Given the description of an element on the screen output the (x, y) to click on. 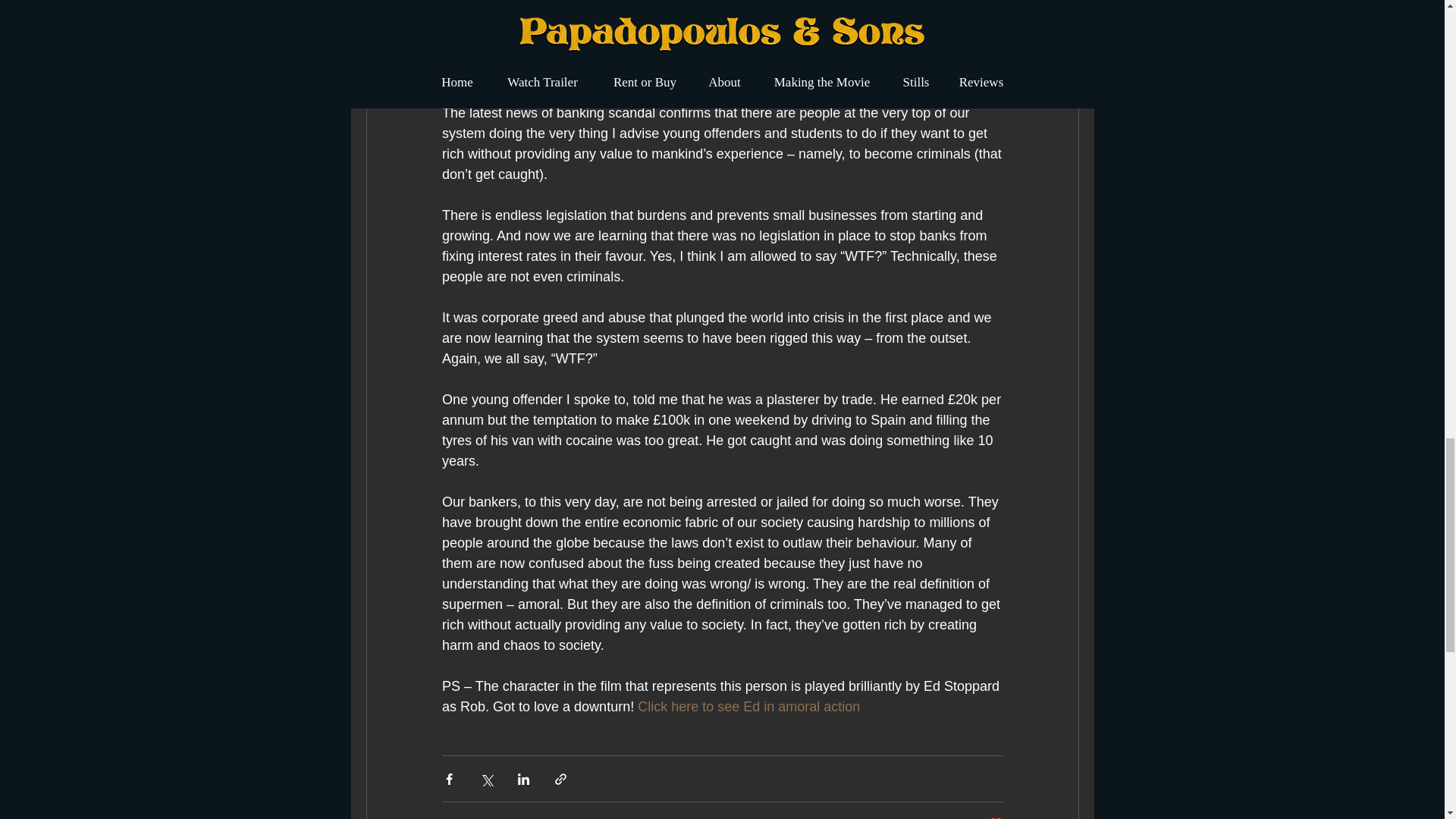
Click here to see Ed in amoral action (748, 706)
Post not marked as liked (995, 817)
